Given the description of an element on the screen output the (x, y) to click on. 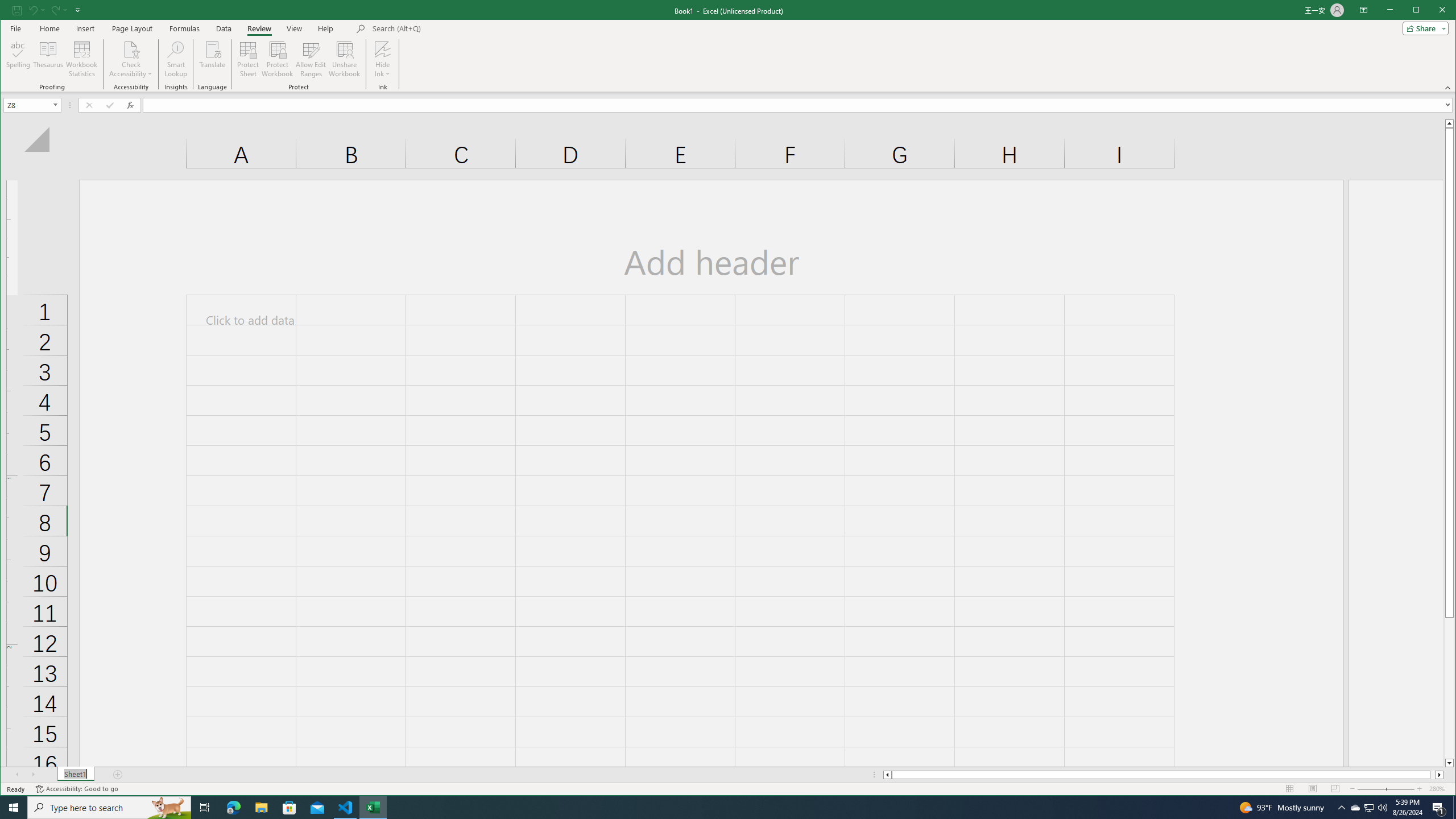
Running applications (717, 807)
Workbook Statistics (82, 59)
Sheet Tab (75, 774)
Show desktop (1454, 807)
Check Accessibility (130, 59)
